Given the description of an element on the screen output the (x, y) to click on. 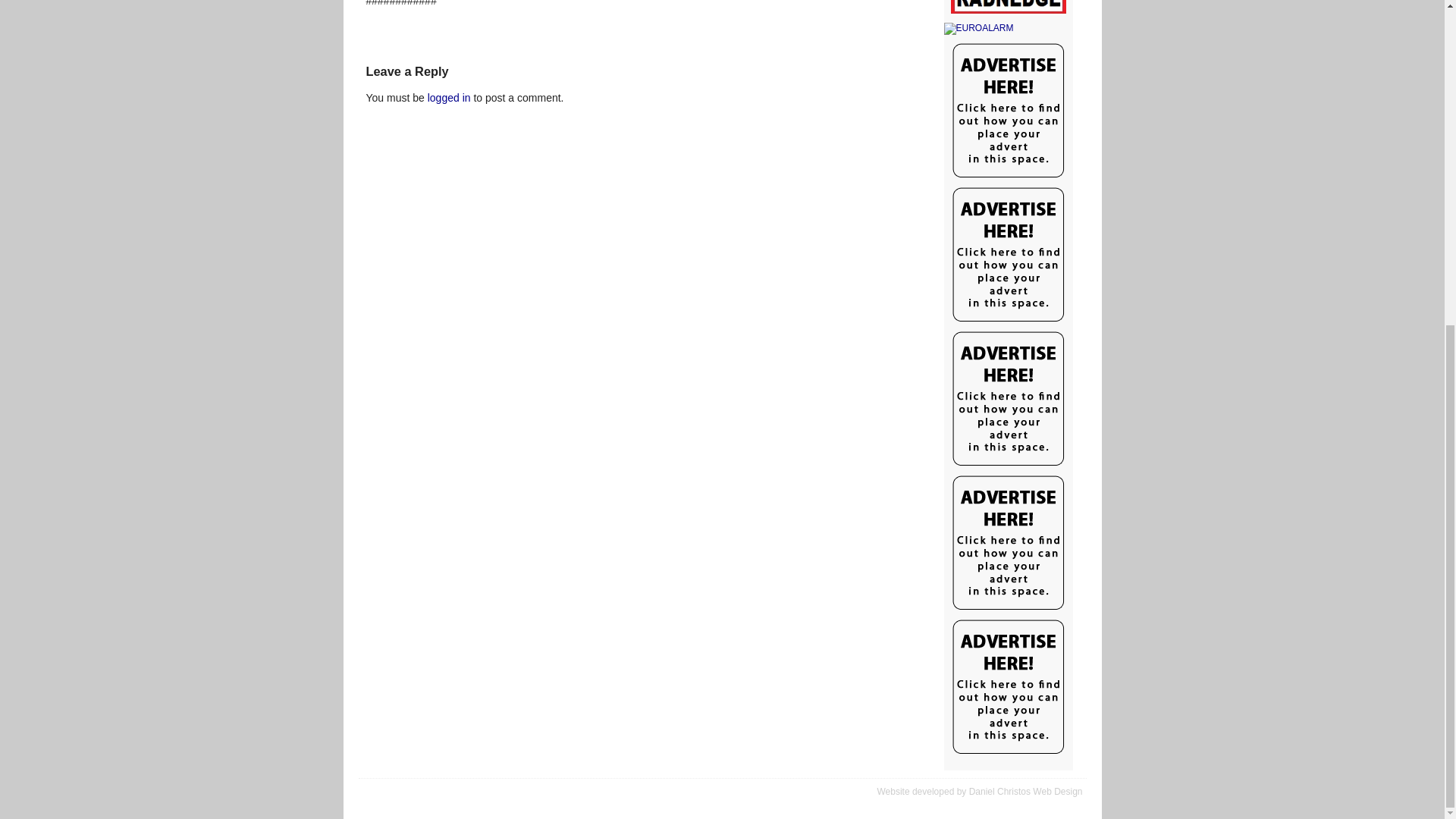
WFR2024 (1007, 7)
Daniel Christos Web Design (1026, 791)
logged in (449, 97)
EUROALARM (1007, 28)
